Given the description of an element on the screen output the (x, y) to click on. 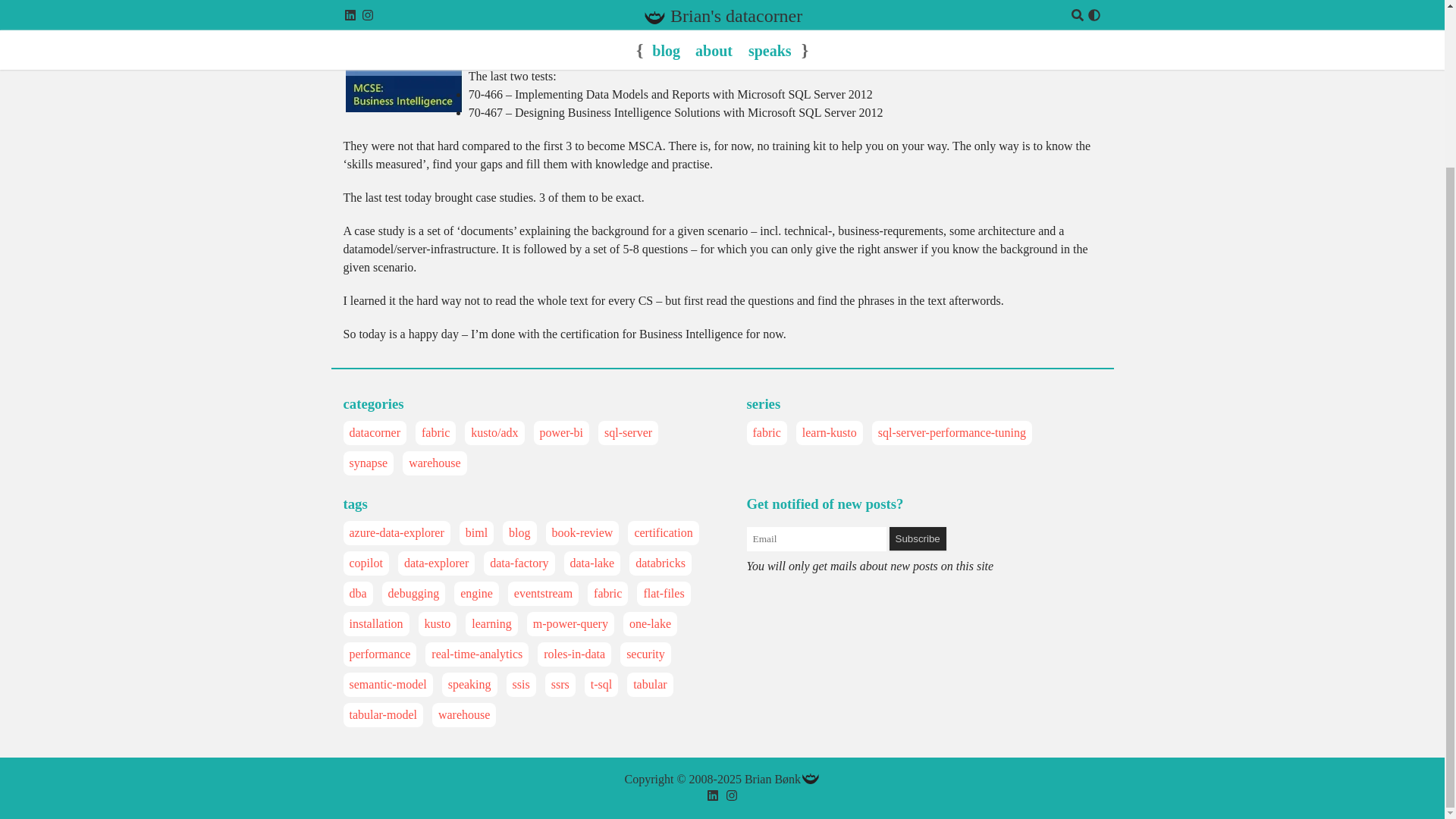
flat-files (663, 593)
eventstream (542, 593)
databricks (659, 563)
sql-server-performance-tuning (951, 433)
data-explorer (436, 563)
fabric (766, 433)
blog (518, 533)
fabric (607, 593)
fabric (435, 433)
warehouse (434, 463)
copilot (365, 563)
learn-kusto (829, 433)
sql-server (628, 433)
certification (663, 533)
installation (376, 624)
